Given the description of an element on the screen output the (x, y) to click on. 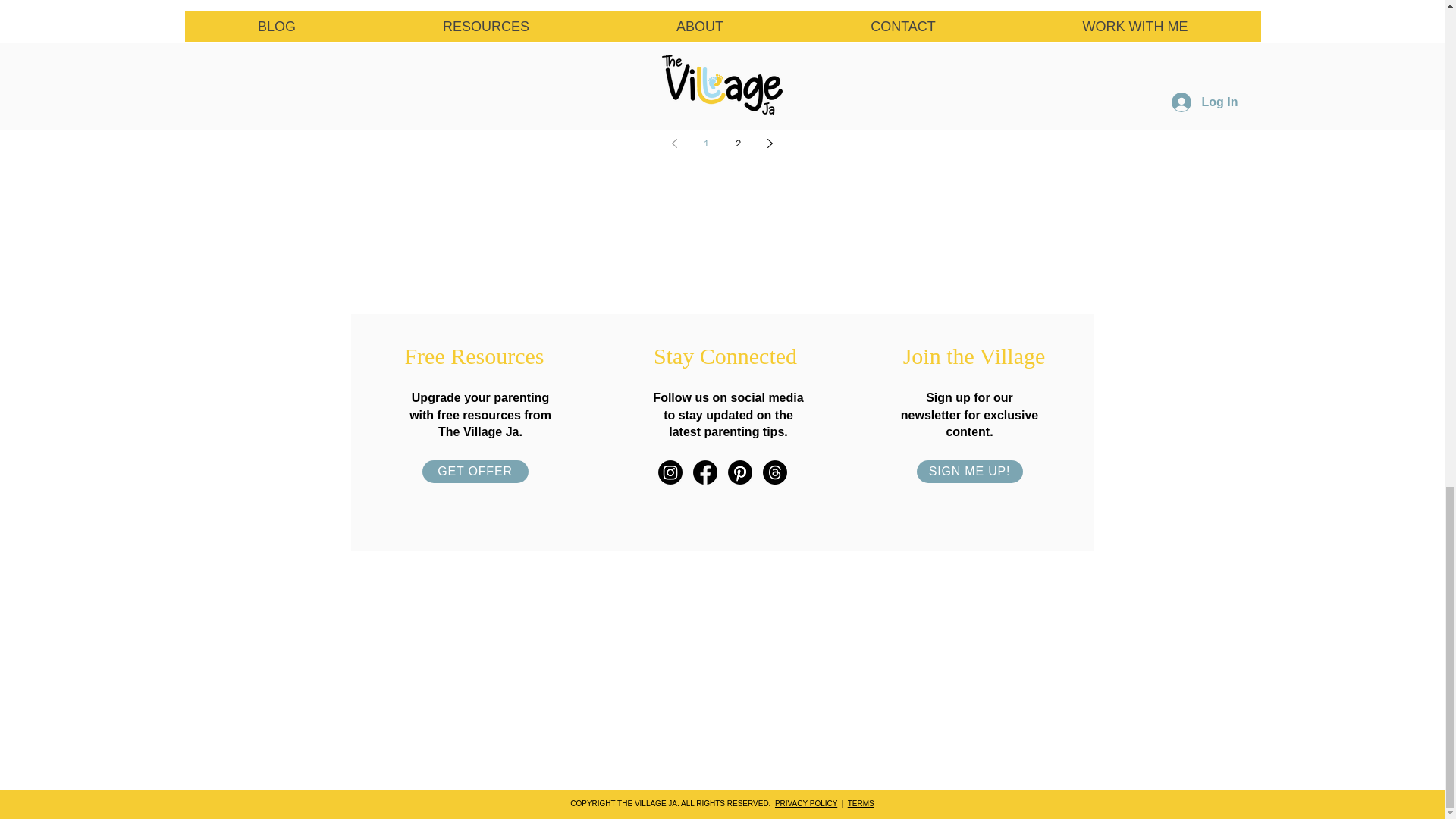
GET OFFER (474, 471)
2 (738, 143)
TERMS (861, 803)
PRIVACY POLICY (805, 803)
SIGN ME UP! (968, 471)
